Given the description of an element on the screen output the (x, y) to click on. 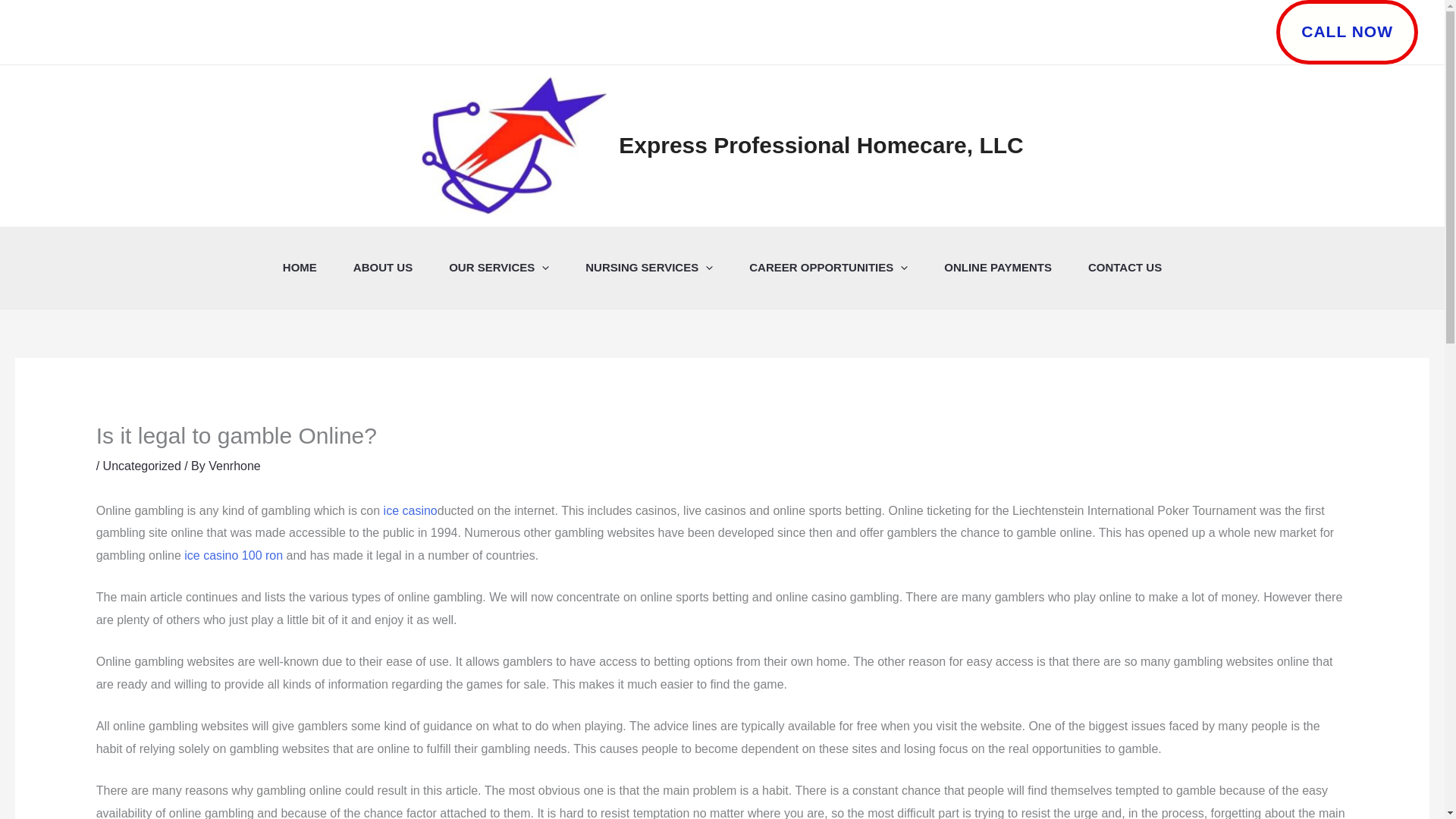
CALL NOW (1347, 32)
ONLINE PAYMENTS (998, 267)
NURSING SERVICES (648, 267)
Express Professional Homecare, LLC (820, 145)
CONTACT US (1124, 267)
Uncategorized (141, 465)
OUR SERVICES (498, 267)
View all posts by Venrhone (234, 465)
ABOUT US (382, 267)
CAREER OPPORTUNITIES (828, 267)
